Given the description of an element on the screen output the (x, y) to click on. 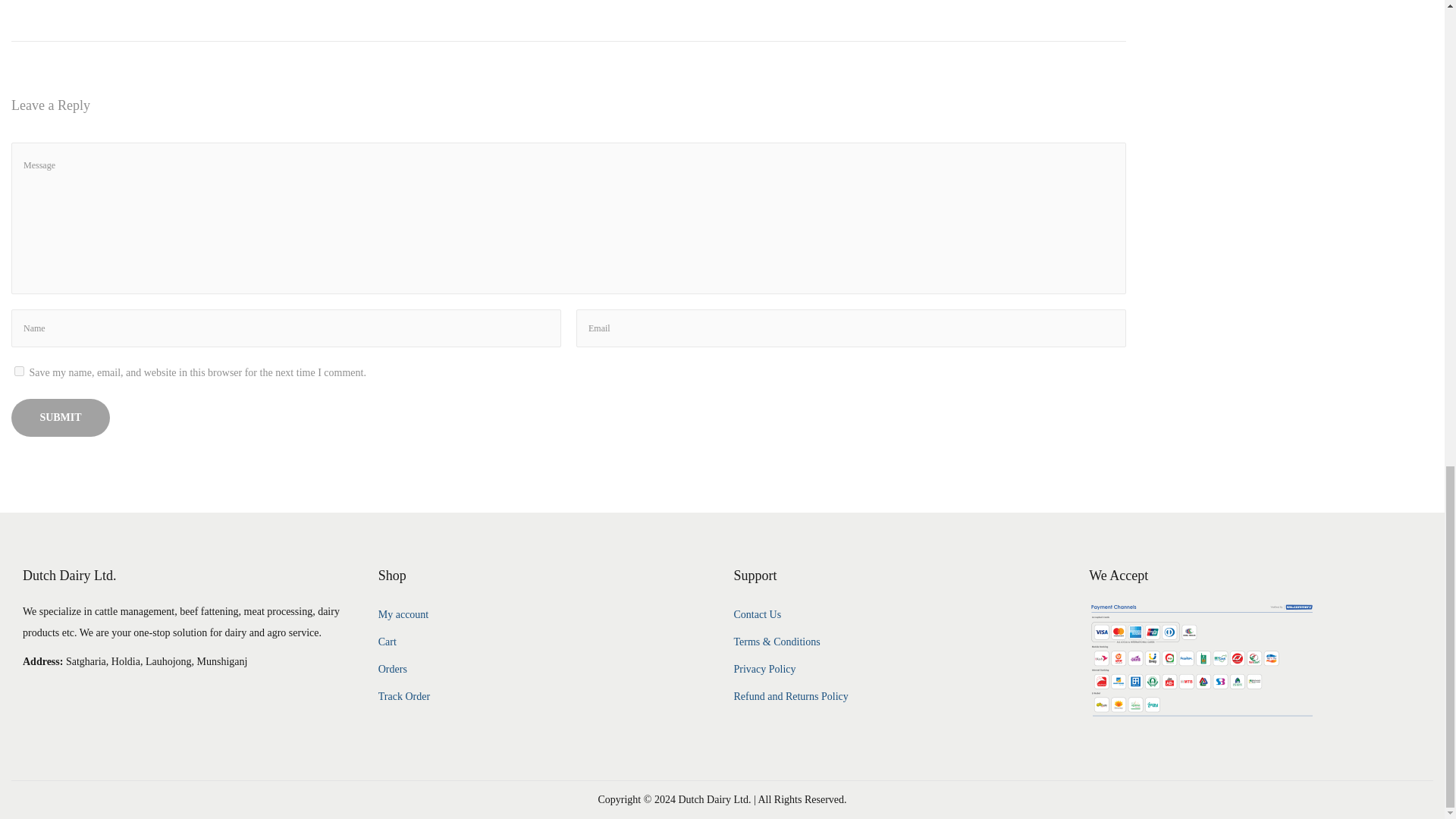
Orders (392, 668)
Submit (60, 417)
My account (403, 614)
Cart (387, 641)
Submit (60, 417)
yes (19, 370)
